Given the description of an element on the screen output the (x, y) to click on. 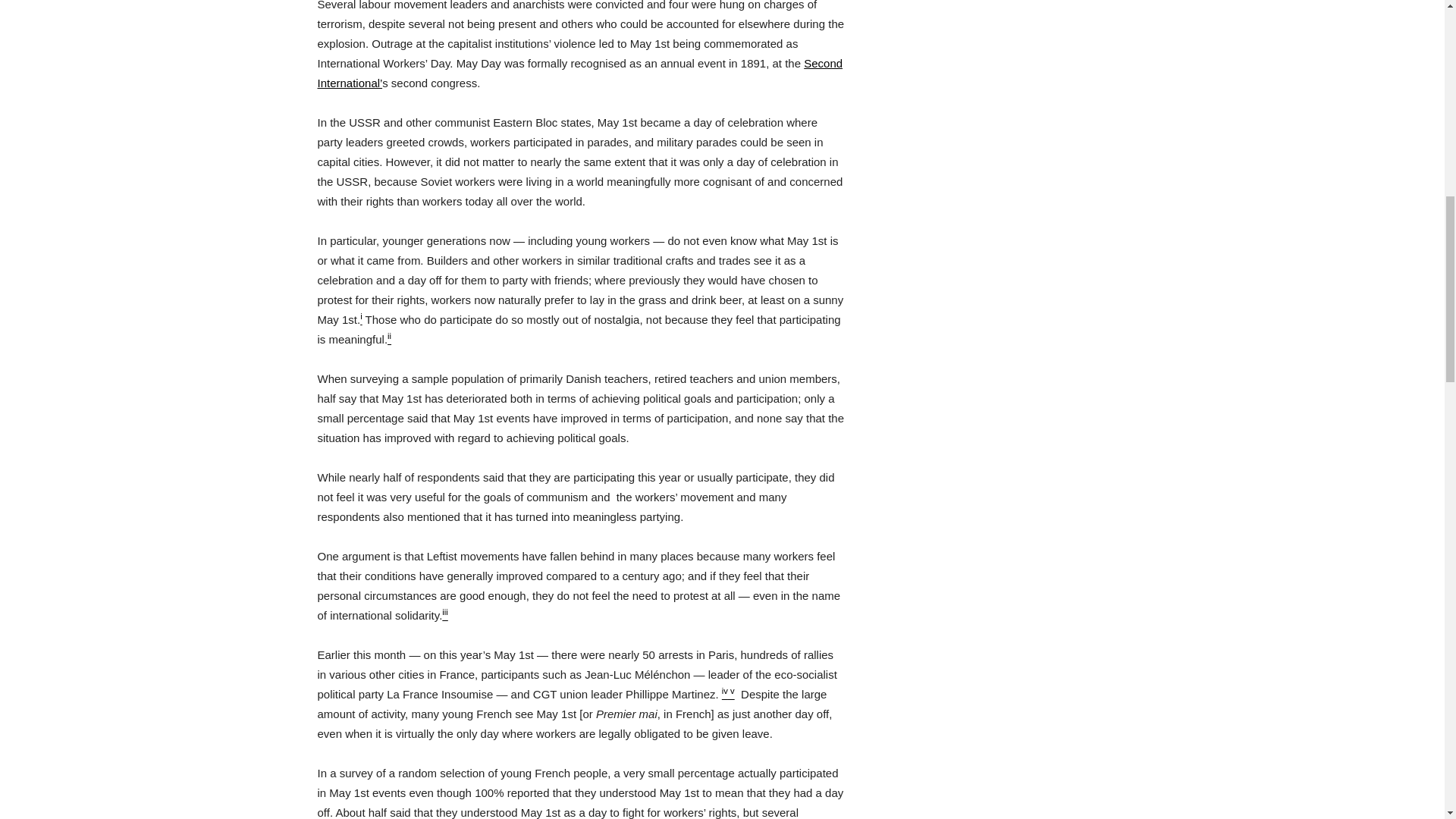
iv (725, 694)
iii (445, 615)
ii (389, 338)
i (360, 318)
v (731, 694)
